Given the description of an element on the screen output the (x, y) to click on. 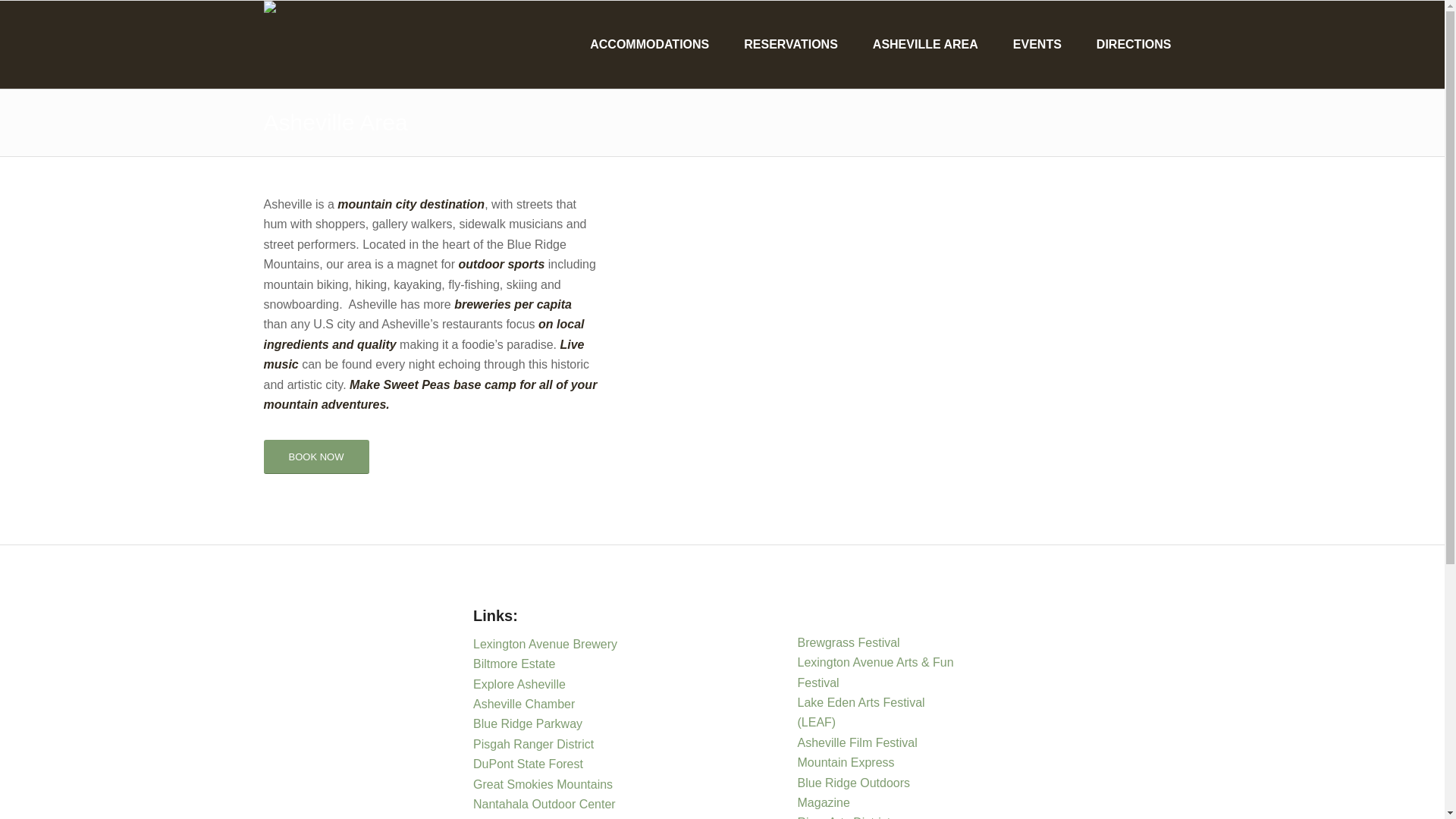
Great Smokies Mountains  (544, 784)
Blue Ridge Parkway  (529, 723)
Nantahala Outdoor Center (544, 803)
ACCOMMODATIONS (641, 44)
EVENTS (1029, 44)
Brewgrass Festival (848, 642)
Mountain Express (846, 762)
Asheville Area (335, 122)
ASHEVILLE AREA (917, 44)
Lexington Avenue Brewery (545, 644)
Bele Chere (503, 818)
DIRECTIONS (1125, 44)
RESERVATIONS (783, 44)
Asheville Chamber  (525, 703)
Permanent Link: Asheville Area (335, 122)
